Given the description of an element on the screen output the (x, y) to click on. 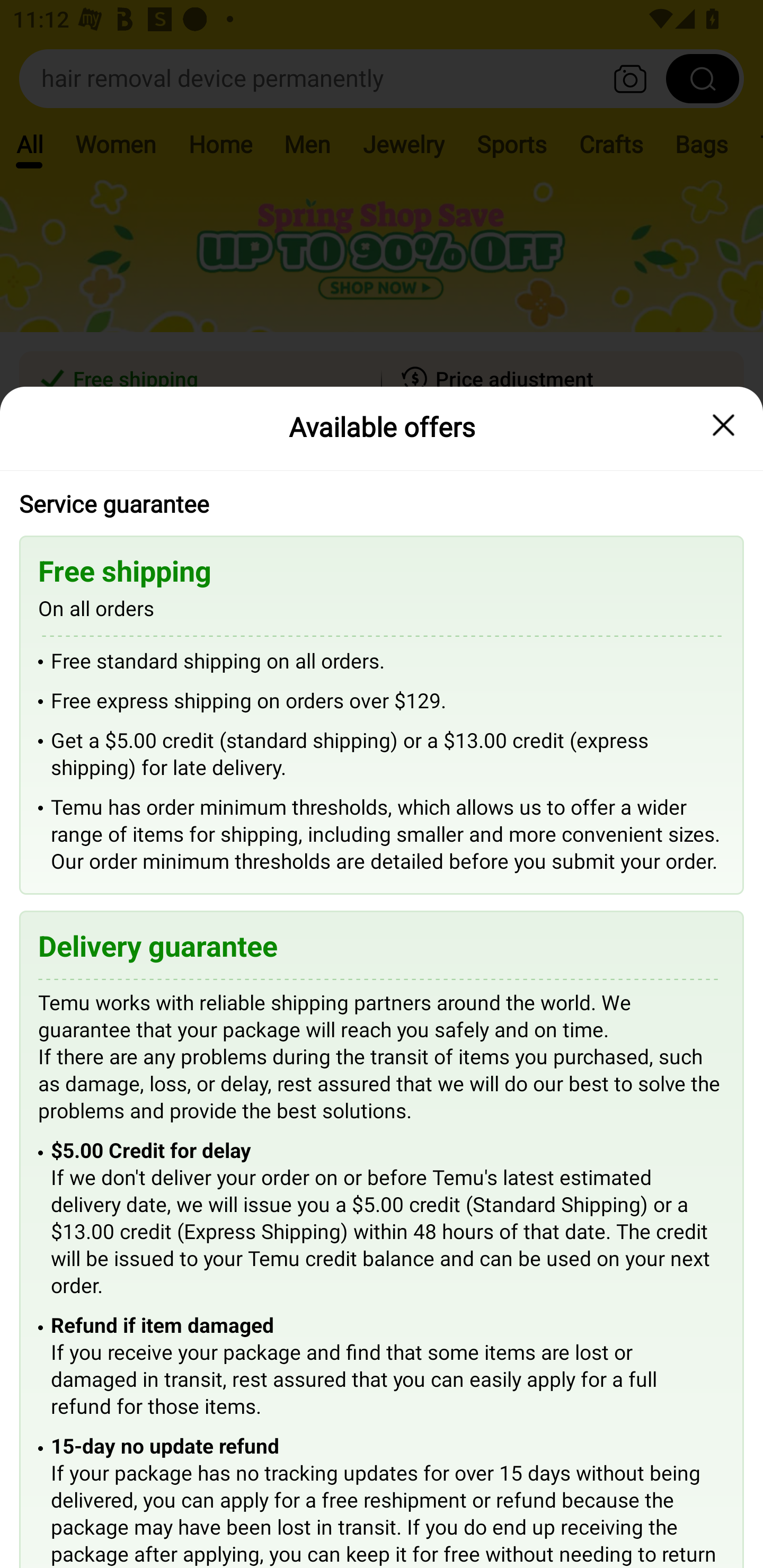
Lightning deals (379, 524)
